Given the description of an element on the screen output the (x, y) to click on. 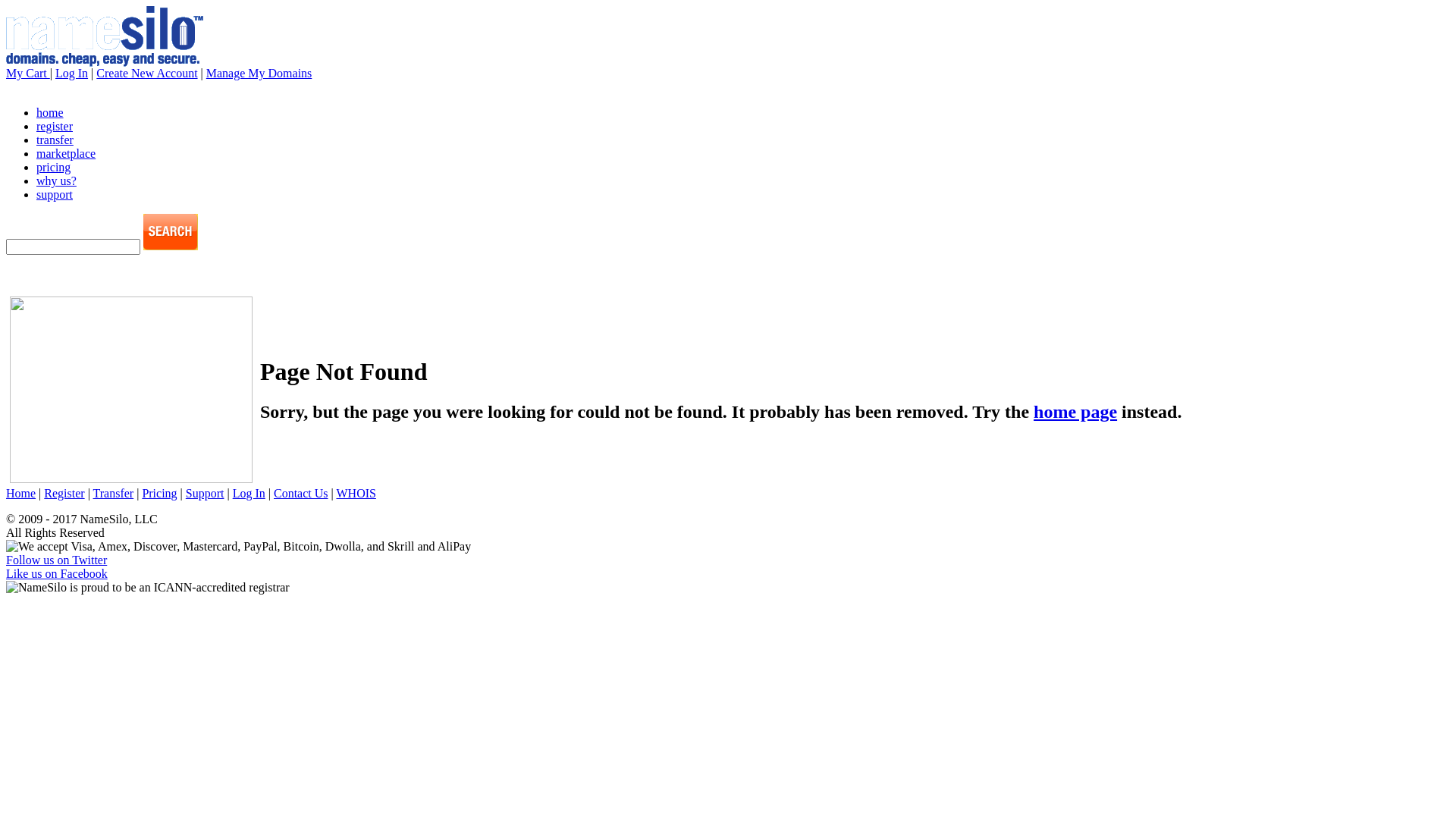
transfer Element type: text (54, 139)
marketplace Element type: text (65, 153)
Support Element type: text (204, 492)
support Element type: text (54, 194)
Pricing Element type: text (158, 492)
home Element type: text (49, 112)
why us? Element type: text (56, 180)
Home Element type: text (20, 492)
NameSilo is proud to be an ICANN-accredited registrar Element type: hover (147, 587)
Register Element type: text (63, 492)
Transfer Element type: text (113, 492)
pricing Element type: text (53, 166)
Contact Us Element type: text (300, 492)
Follow us on Twitter Element type: text (56, 559)
Log In Element type: text (71, 72)
Log In Element type: text (248, 492)
My Cart Element type: text (28, 72)
Manage My Domains Element type: text (259, 72)
WHOIS Element type: text (355, 492)
register Element type: text (54, 125)
Create New Account Element type: text (146, 72)
Like us on Facebook Element type: text (56, 573)
home page Element type: text (1075, 411)
